Given the description of an element on the screen output the (x, y) to click on. 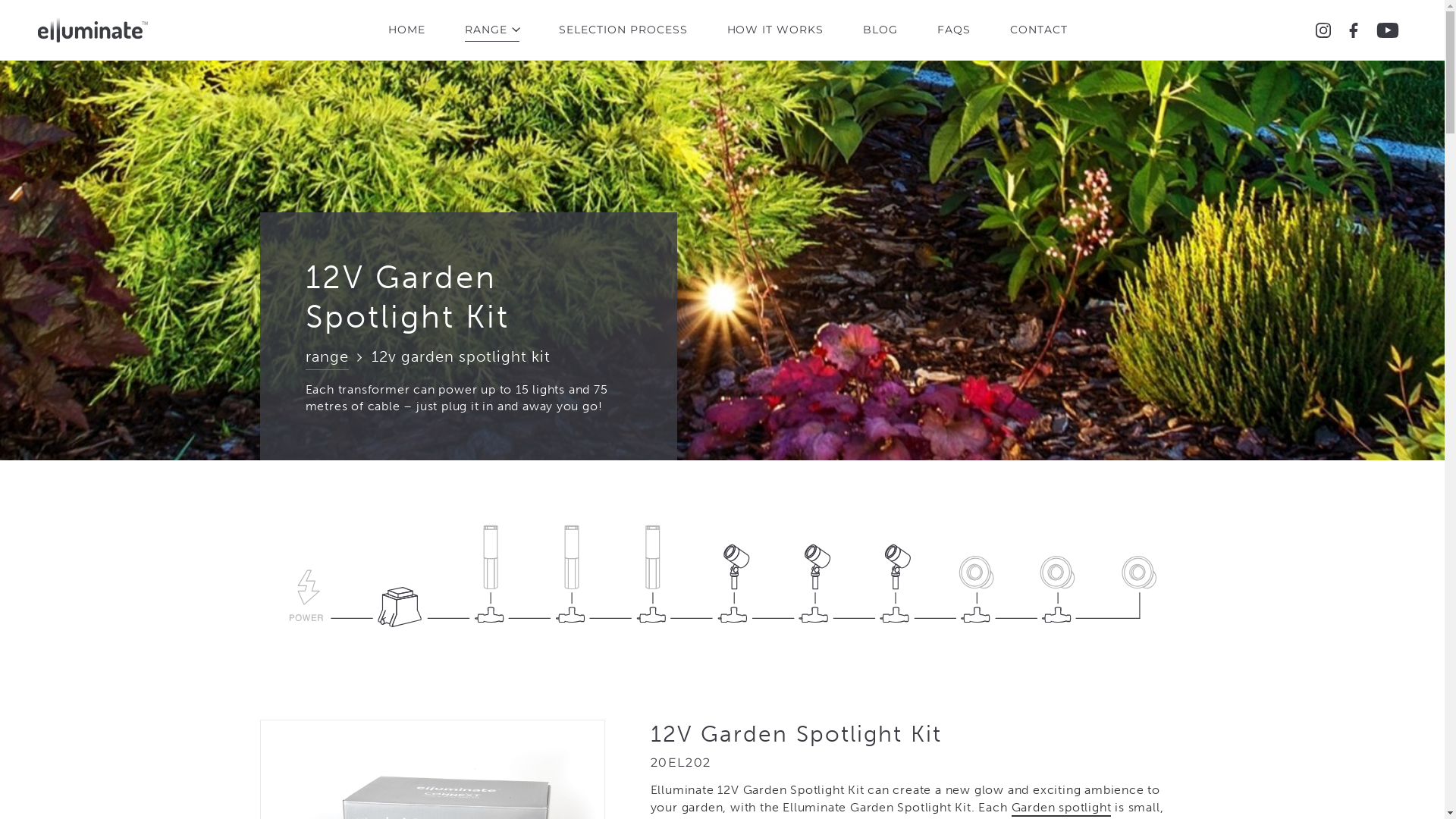
/Elluminatelighting on Facebook Element type: text (1353, 29)
CONTACT Element type: text (1038, 29)
FAQS Element type: text (953, 29)
SELECTION PROCESS Element type: text (623, 29)
Elluminate Lighting Element type: text (92, 29)
Elluminate Lighting on Youtube Element type: text (1387, 29)
BLOG Element type: text (880, 29)
Garden spotlight Element type: text (1061, 807)
RANGE Element type: text (492, 29)
HOME Element type: text (406, 29)
range Element type: text (326, 358)
/Elluminatelighting on Instagram Element type: text (1323, 29)
HOW IT WORKS Element type: text (774, 29)
